Given the description of an element on the screen output the (x, y) to click on. 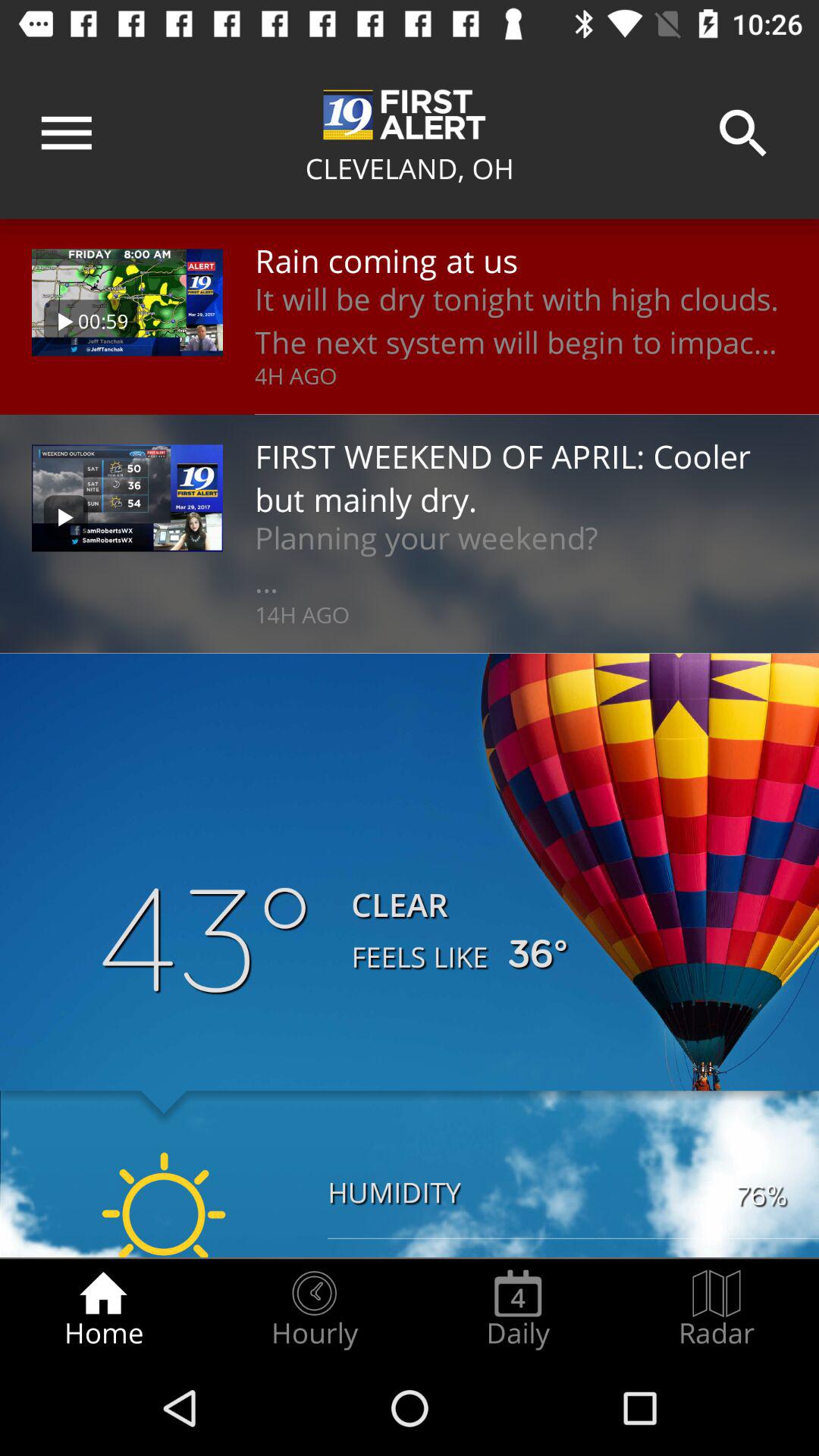
scroll until hourly icon (314, 1309)
